Given the description of an element on the screen output the (x, y) to click on. 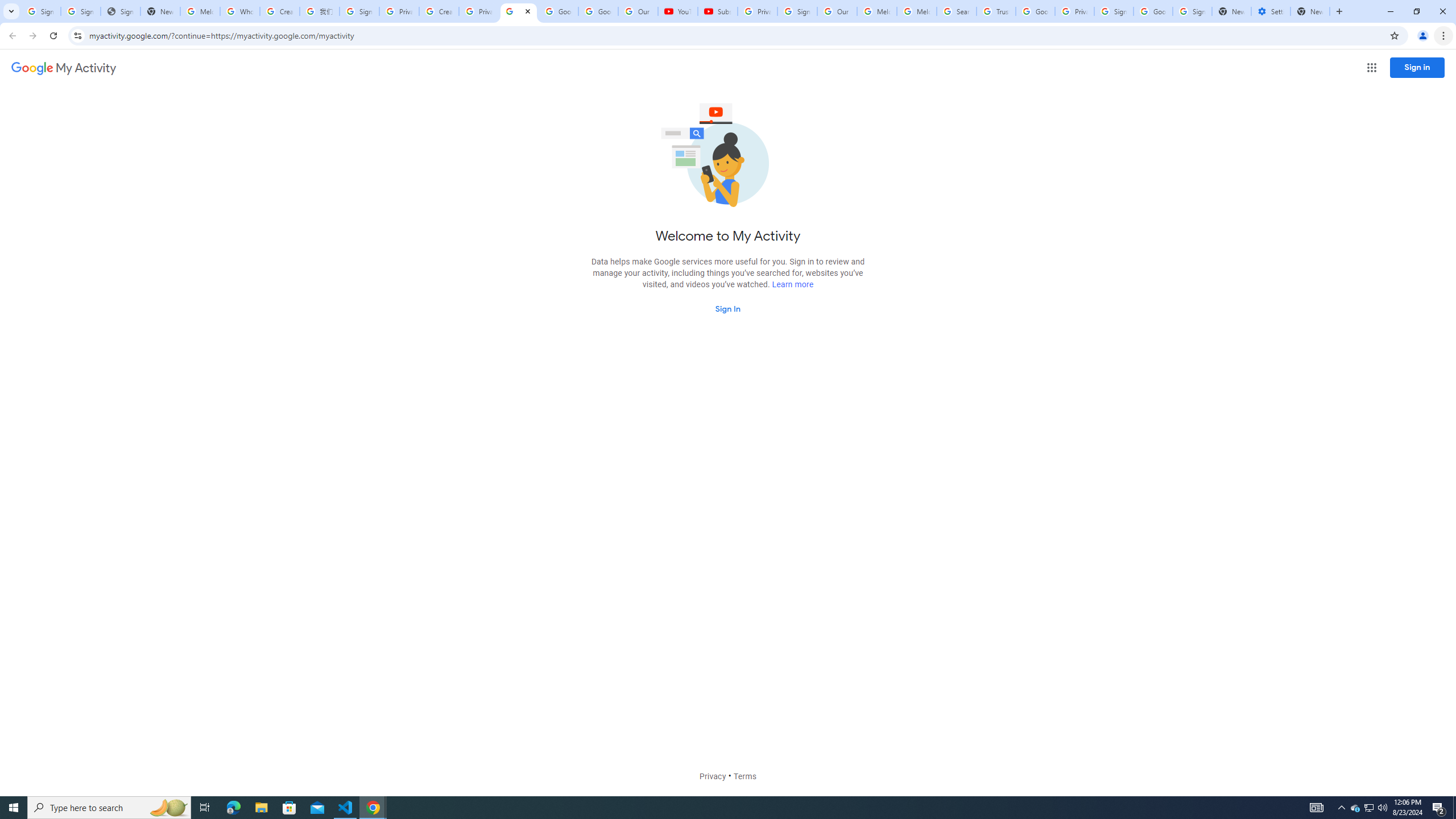
My Activity (63, 68)
Sign in - Google Accounts (796, 11)
Sign in - Google Accounts (359, 11)
YouTube (677, 11)
Create your Google Account (438, 11)
Create your Google Account (279, 11)
